Given the description of an element on the screen output the (x, y) to click on. 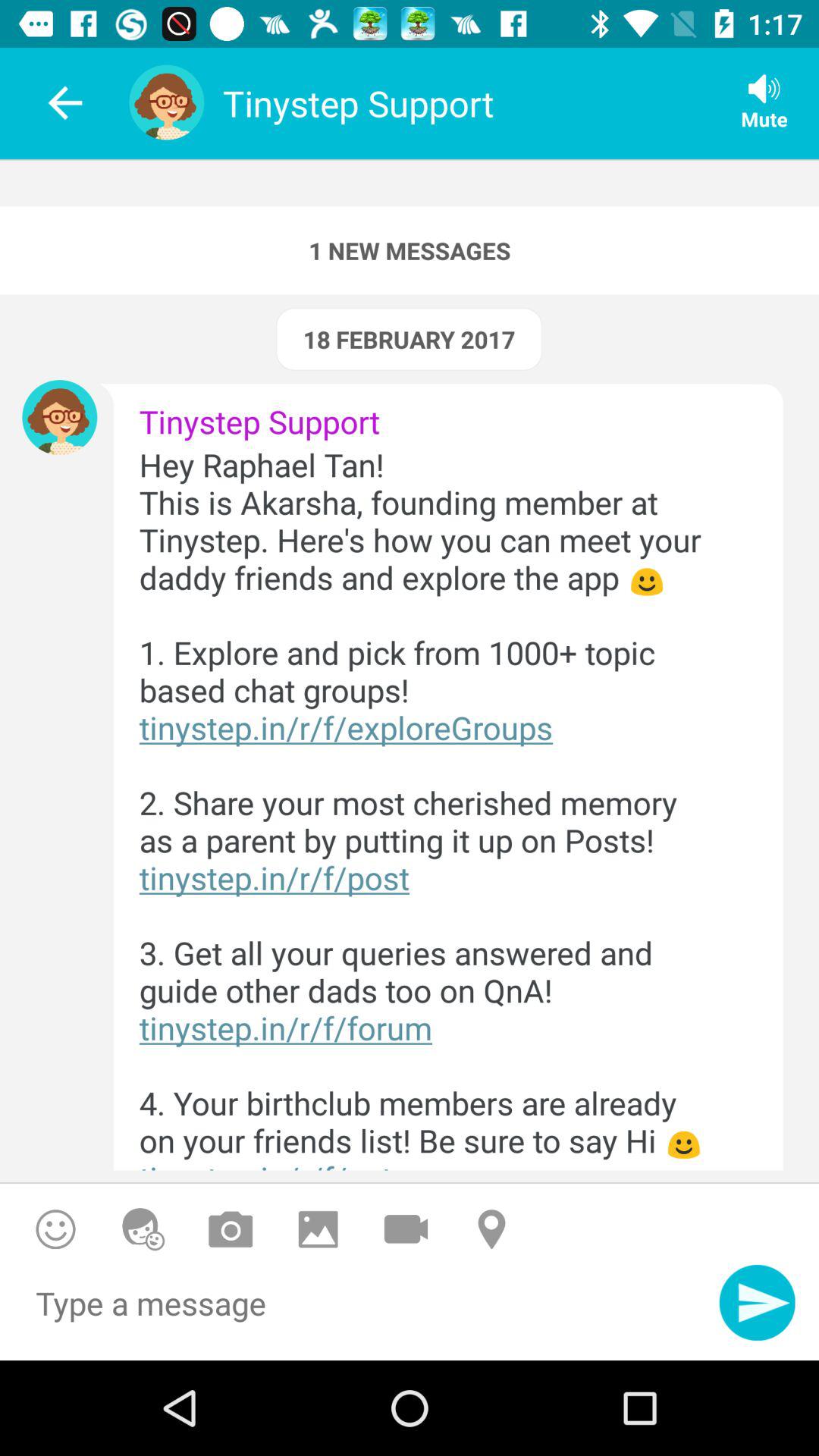
send message (757, 1302)
